Given the description of an element on the screen output the (x, y) to click on. 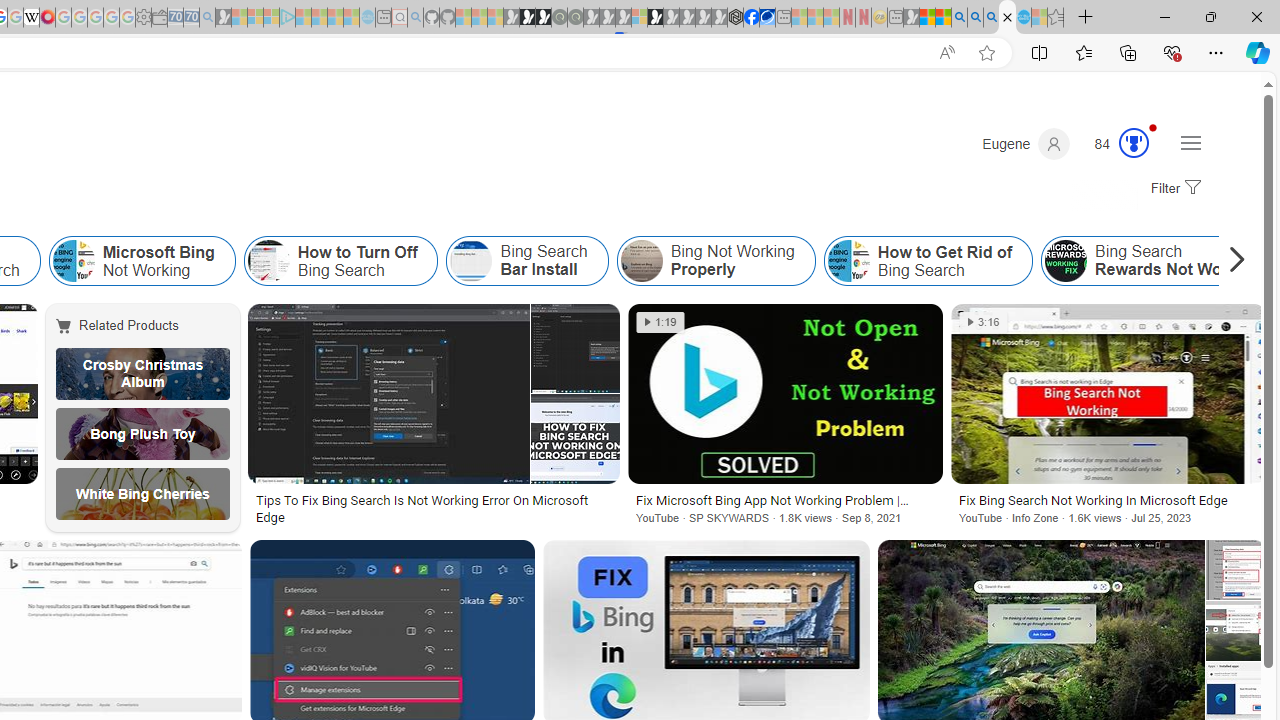
How to Turn Off Bing Search (268, 260)
Bing Not Working Properly (715, 260)
Bing Search Bar Install (471, 260)
Image result for Bing Search Not Working (1108, 393)
